Given the description of an element on the screen output the (x, y) to click on. 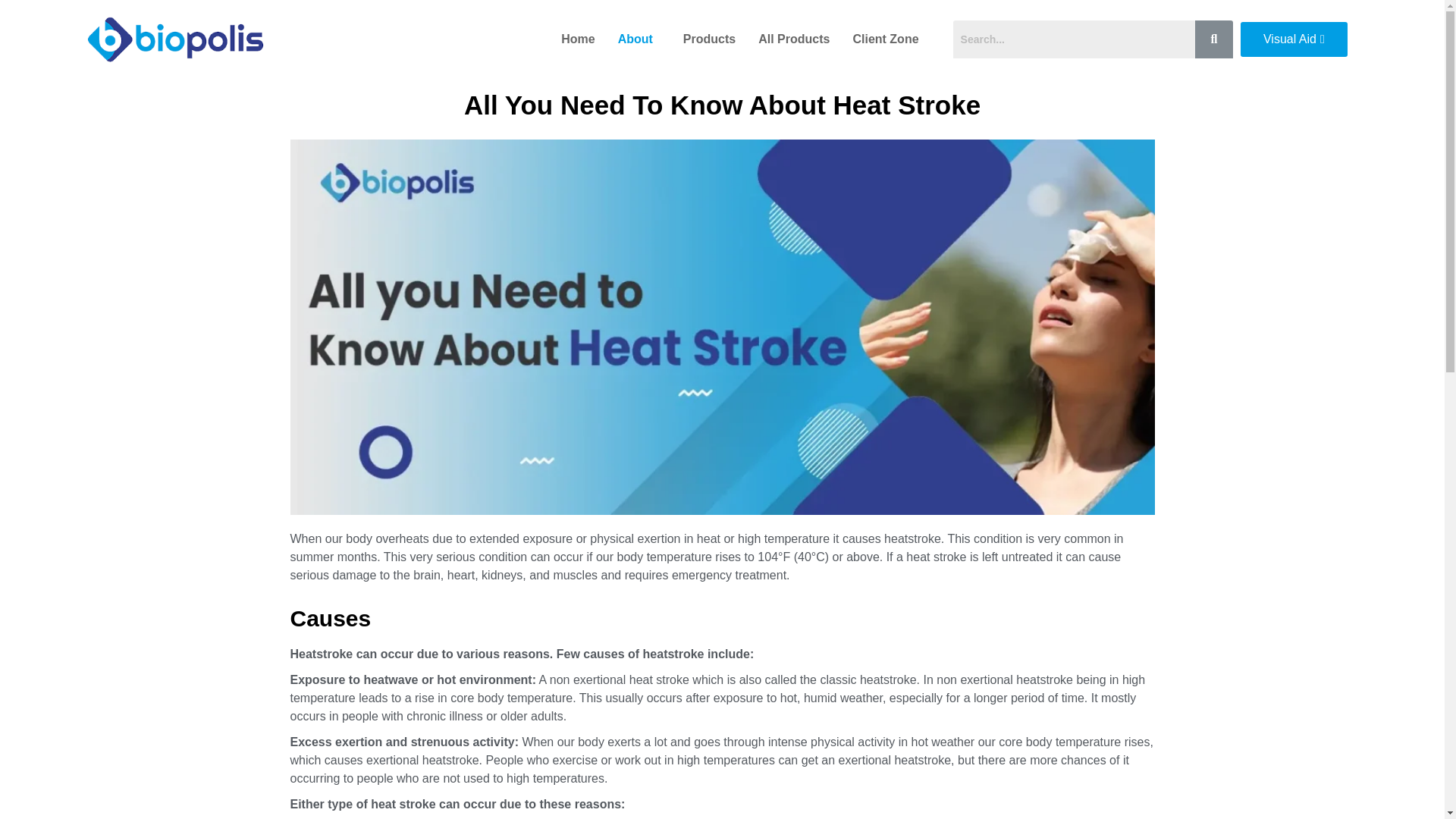
Search (1074, 39)
Home (577, 39)
About (639, 39)
All Products (793, 39)
Visual Aid (1294, 39)
Client Zone (889, 39)
Products (708, 39)
